Given the description of an element on the screen output the (x, y) to click on. 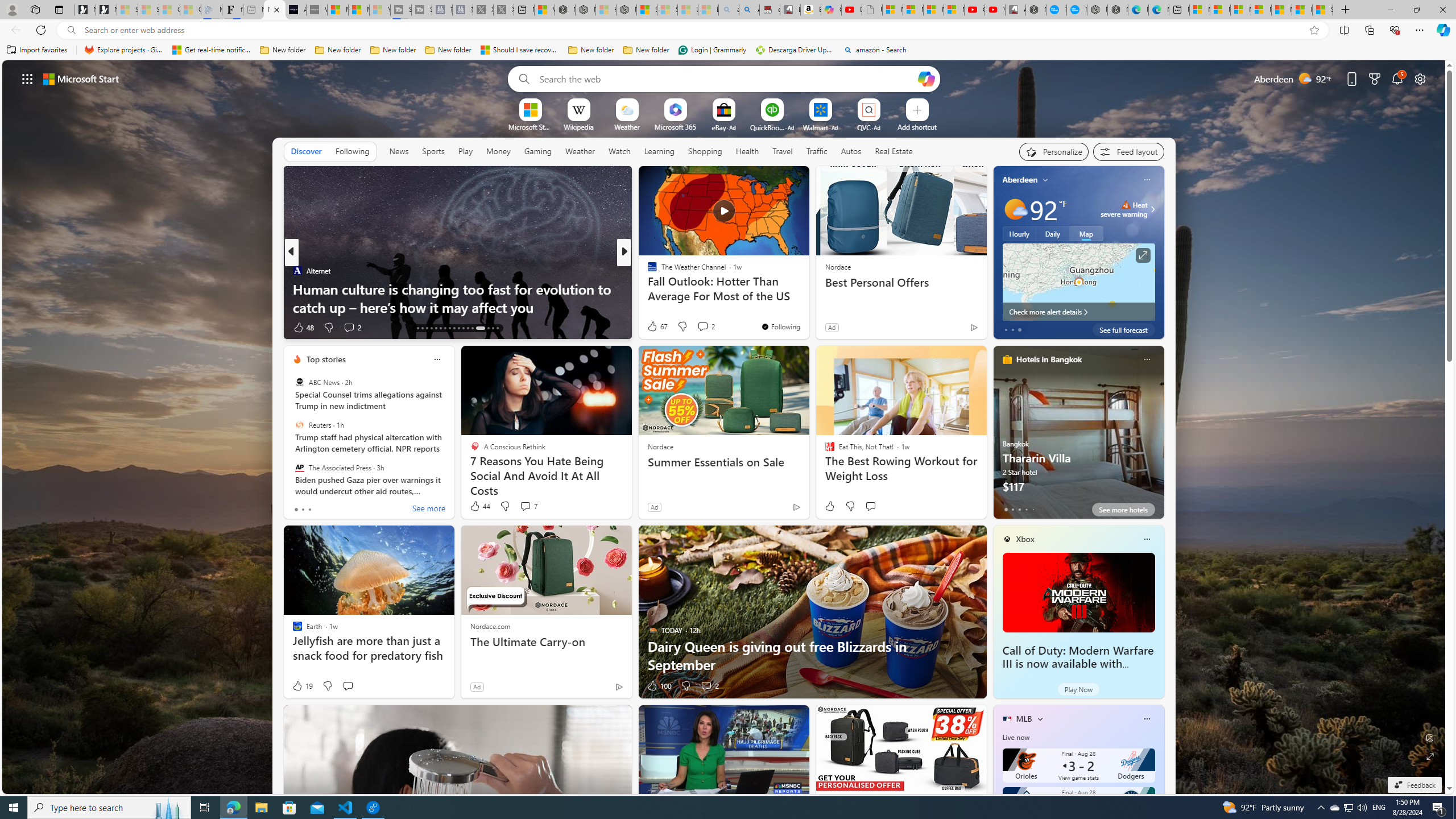
Travel (782, 151)
Autos (851, 151)
Microsoft Start Sports (529, 126)
Edit Background (1430, 737)
My location (1045, 179)
Nordace (659, 446)
Favorites bar (728, 49)
Microsoft rewards (1374, 78)
View comments 4 Comment (698, 327)
Gloom - YouTube (974, 9)
AutomationID: tab-18 (422, 328)
YouTube Kids - An App Created for Kids to Explore Content (994, 9)
hotels-header-icon (1006, 358)
Gaming (537, 151)
